Given the description of an element on the screen output the (x, y) to click on. 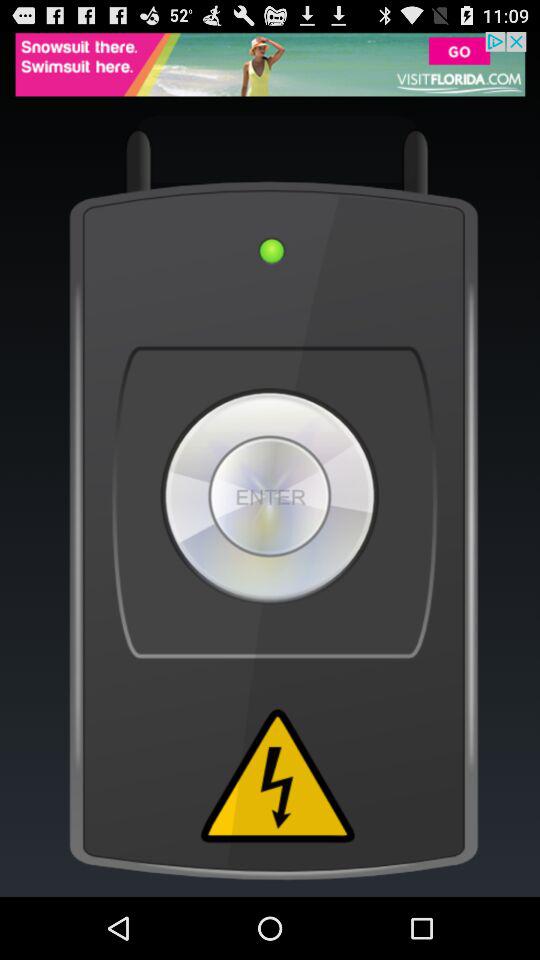
select enter (269, 496)
